Given the description of an element on the screen output the (x, y) to click on. 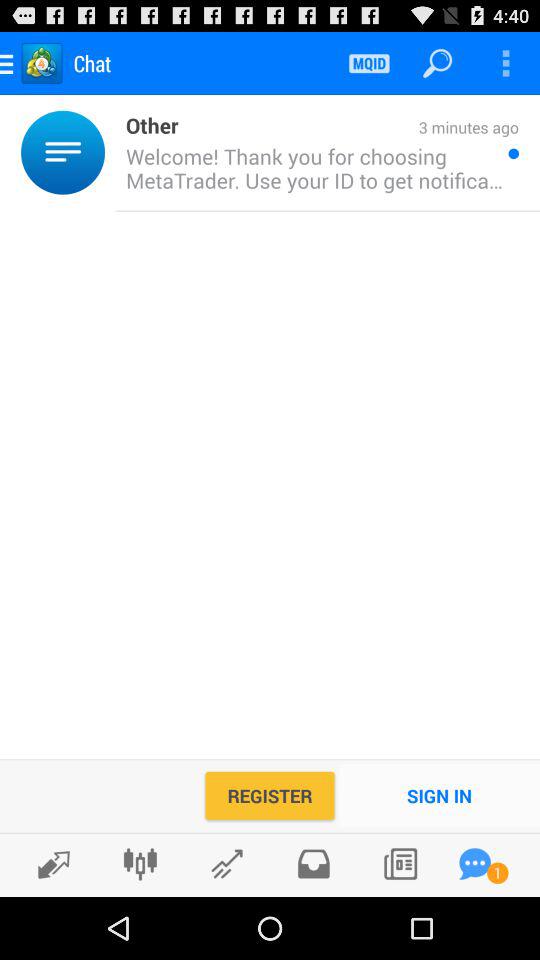
go to message (475, 864)
